Given the description of an element on the screen output the (x, y) to click on. 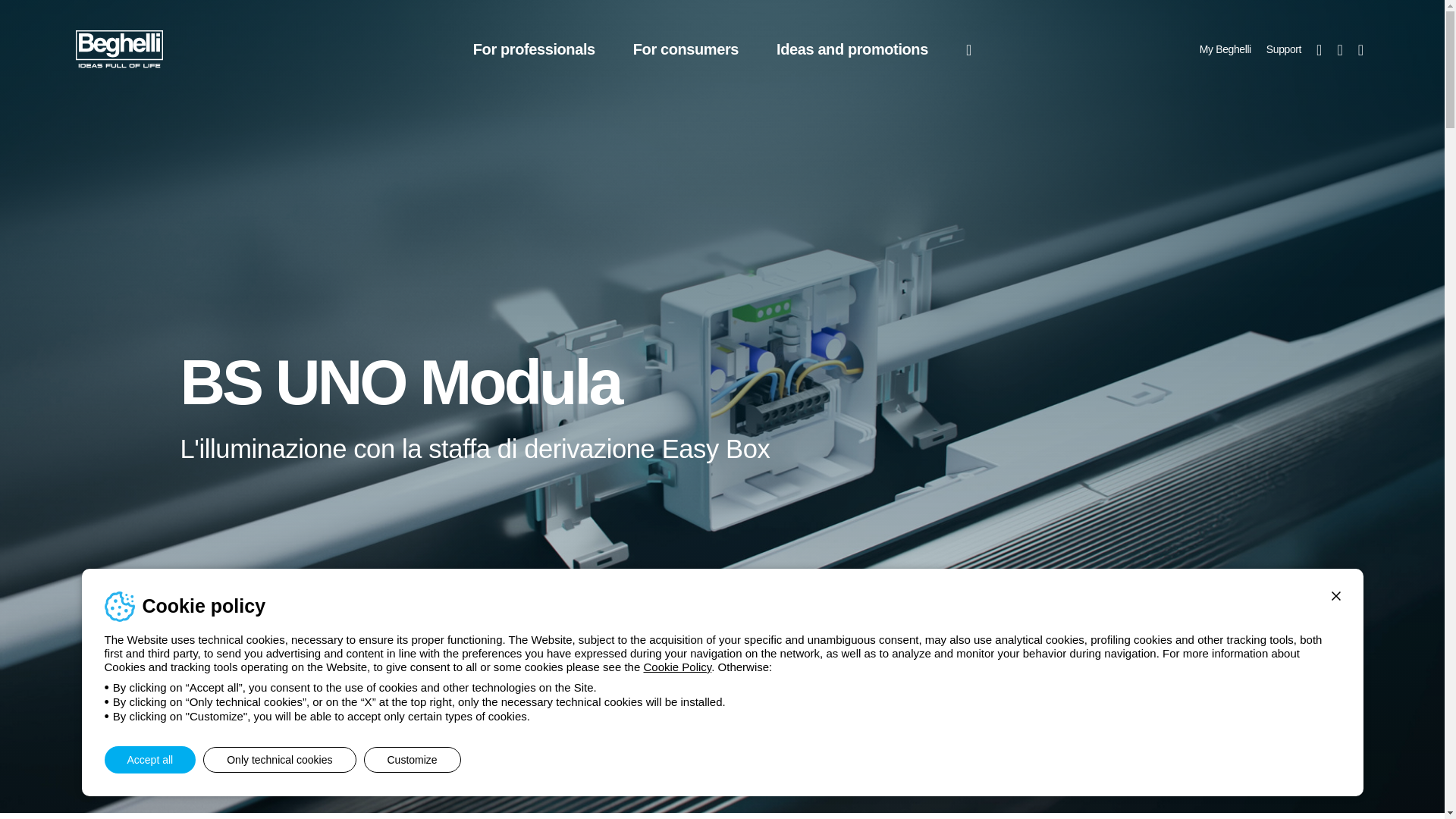
For consumers (685, 49)
For professionals (534, 49)
